Given the description of an element on the screen output the (x, y) to click on. 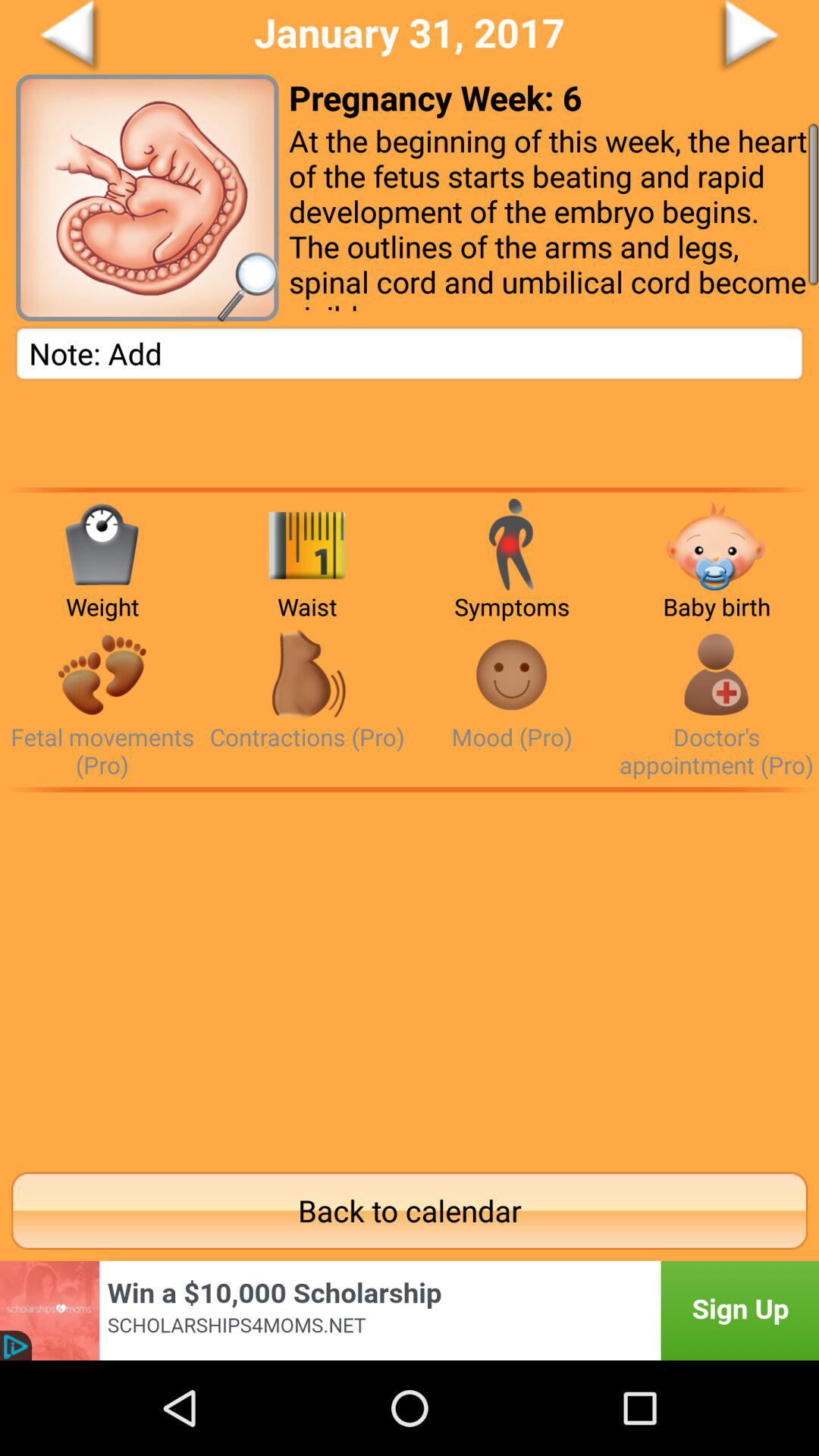
click for next page (691, 37)
